Given the description of an element on the screen output the (x, y) to click on. 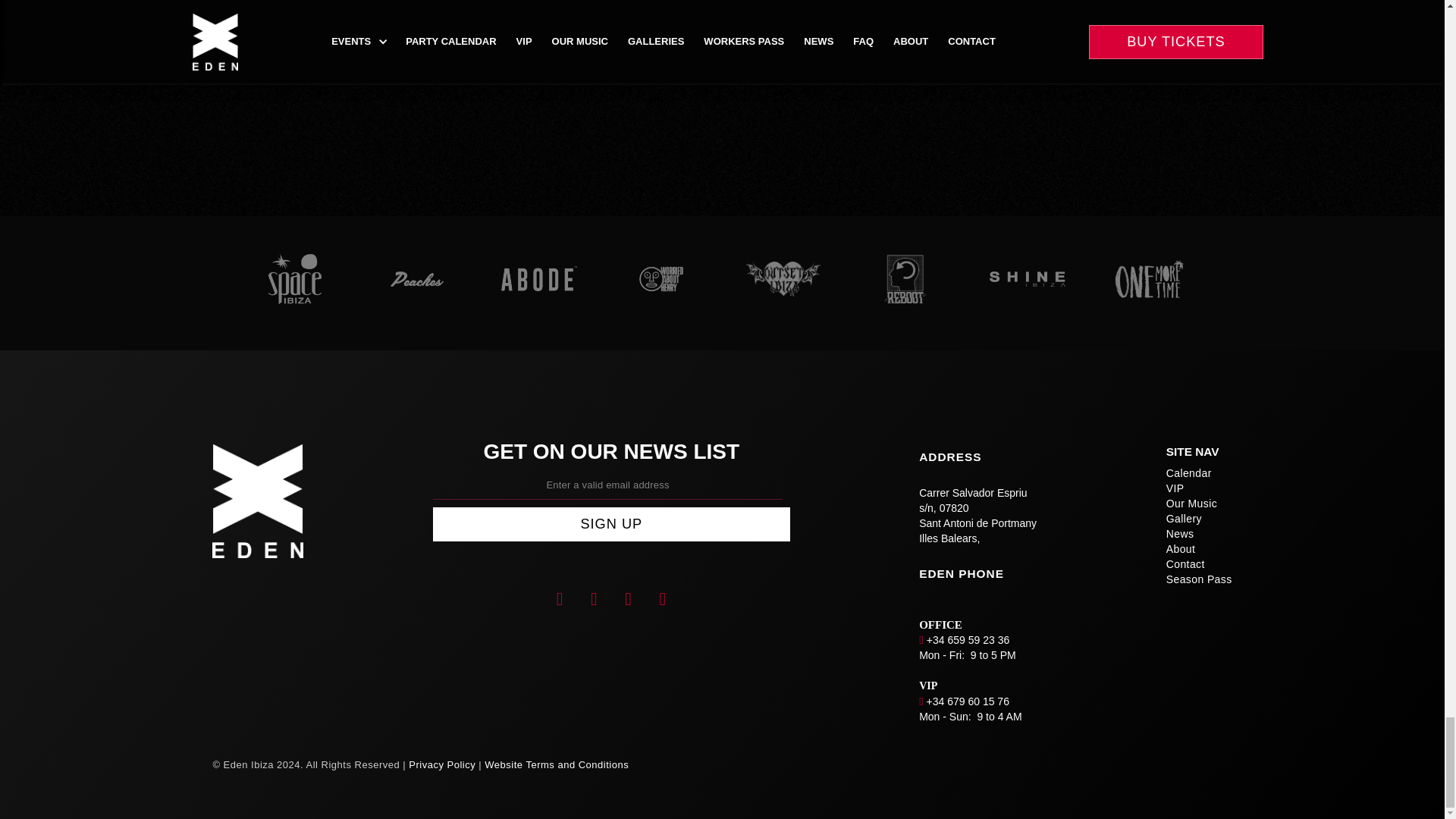
Sign up (610, 523)
